Given the description of an element on the screen output the (x, y) to click on. 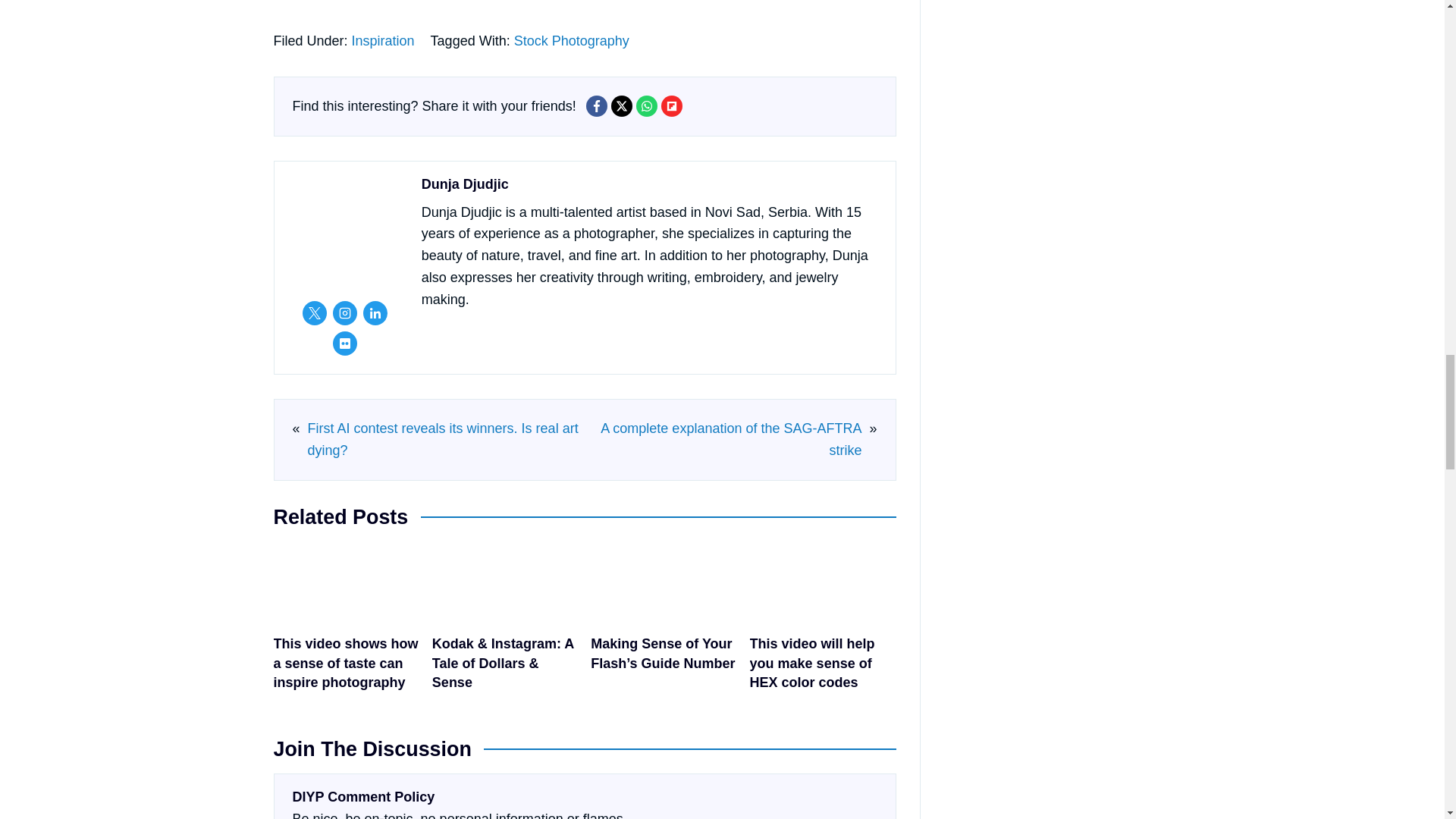
This video will help you make sense of HEX color codes (822, 622)
